Given the description of an element on the screen output the (x, y) to click on. 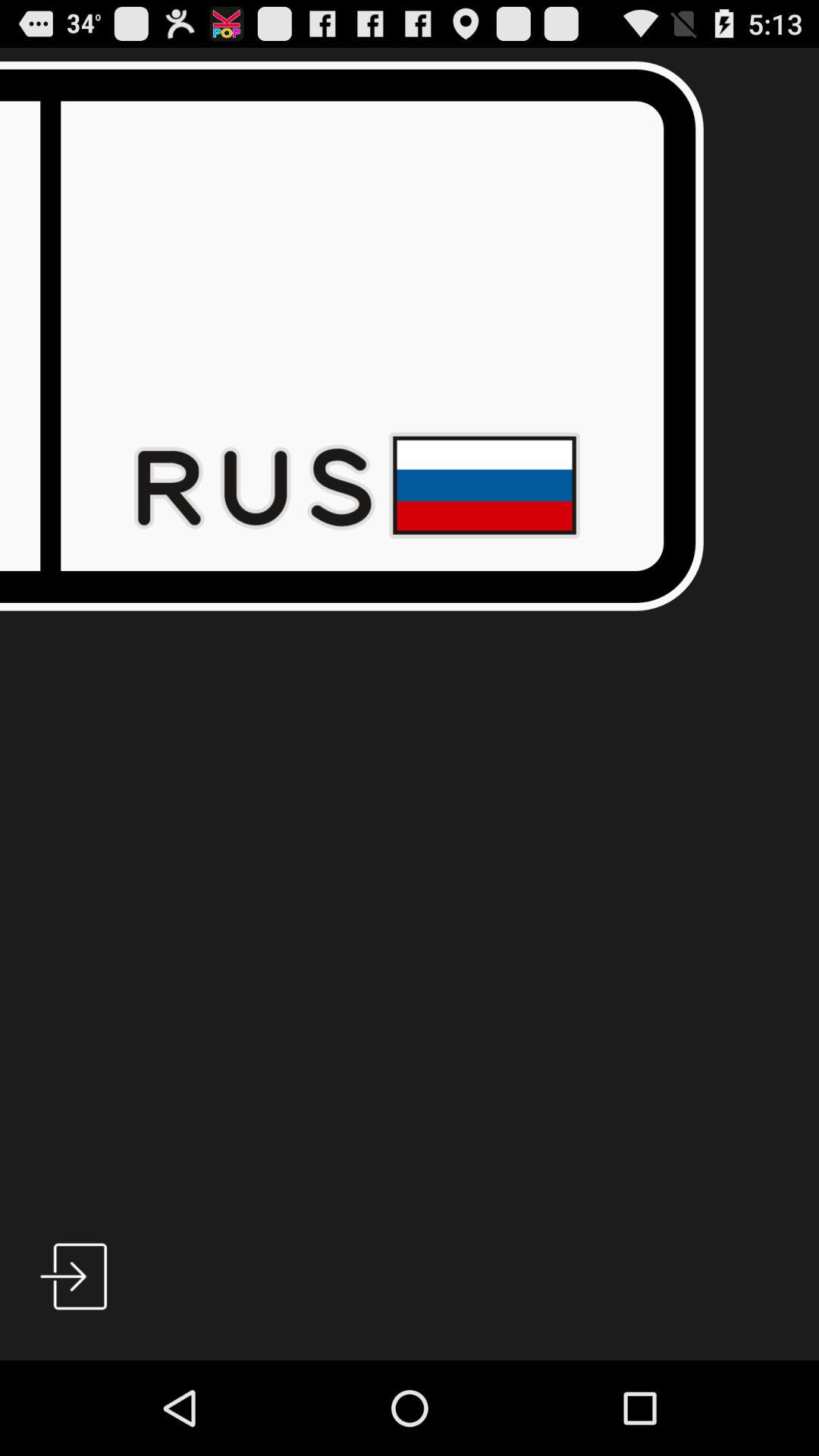
press the item at the bottom left corner (73, 1276)
